Given the description of an element on the screen output the (x, y) to click on. 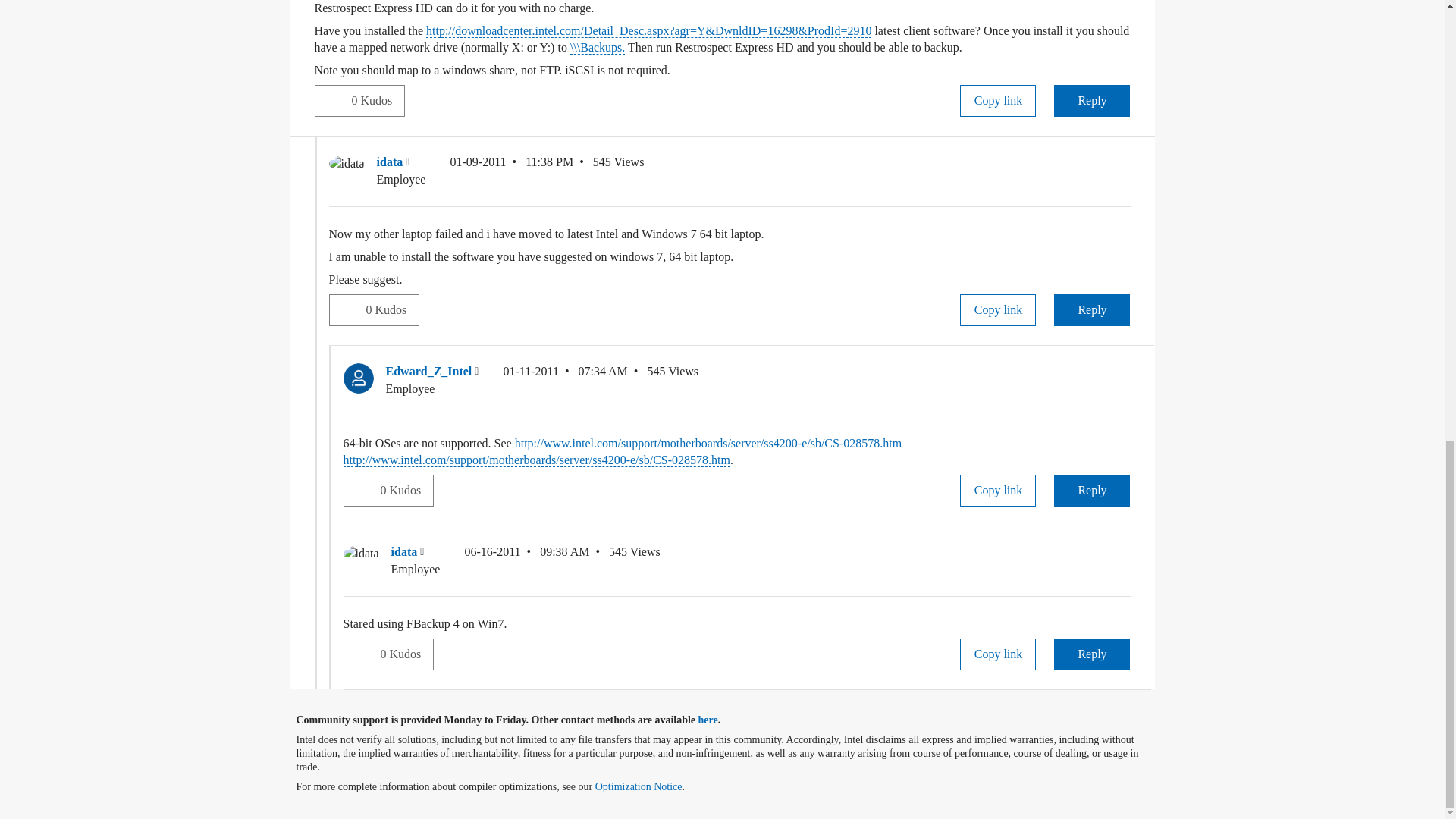
Click here to give kudos to this post. (347, 308)
The total number of kudos this post has received. (392, 309)
The total number of kudos this post has received. (377, 100)
idata (347, 163)
Click here to give kudos to this post. (332, 99)
Posted on (511, 170)
